Given the description of an element on the screen output the (x, y) to click on. 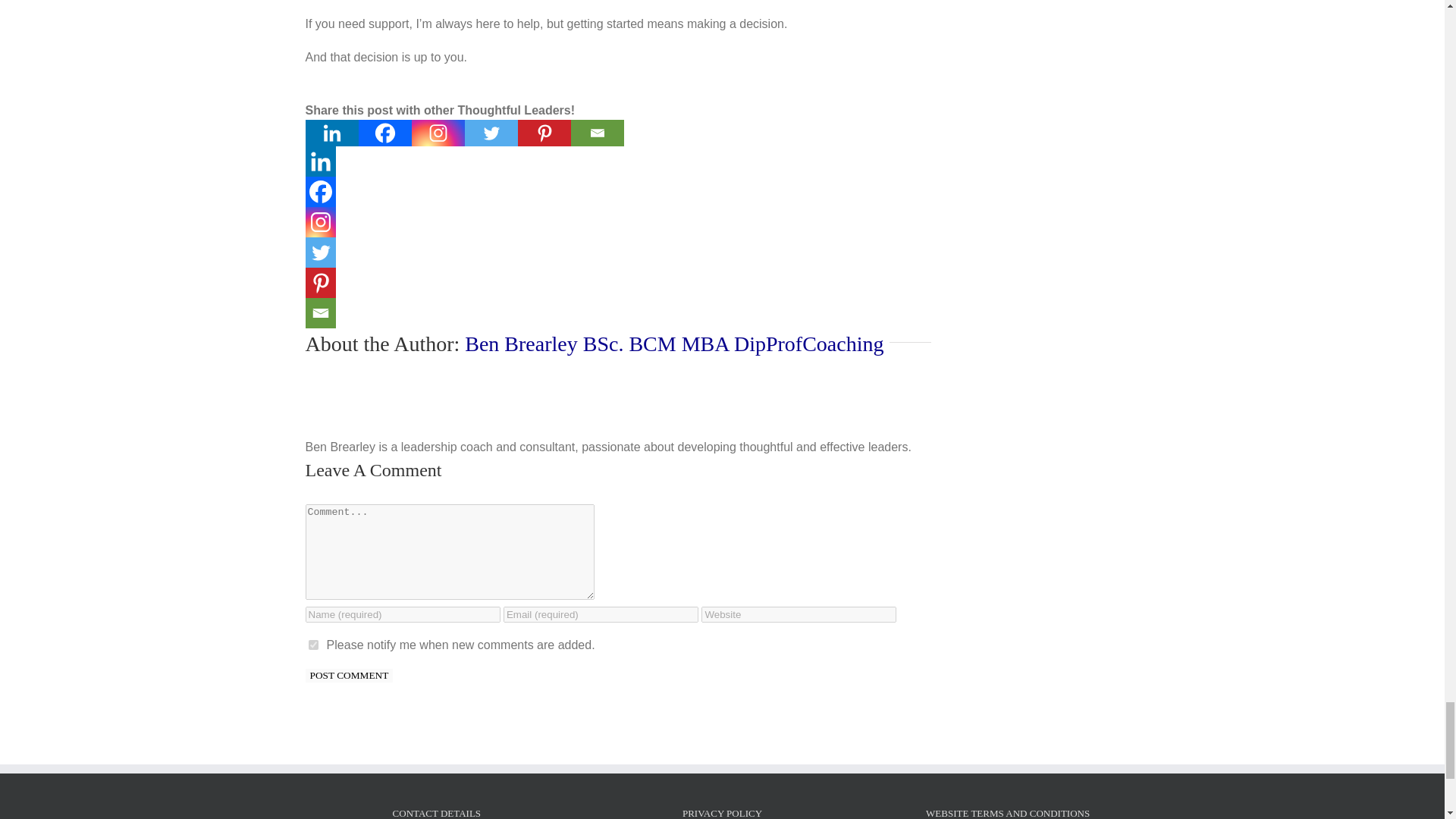
1 (312, 644)
Post Comment (348, 675)
Instagram (437, 132)
Facebook (319, 191)
Pinterest (543, 132)
Email (596, 132)
Linkedin (331, 132)
Linkedin (319, 161)
Twitter (490, 132)
Facebook (384, 132)
